Given the description of an element on the screen output the (x, y) to click on. 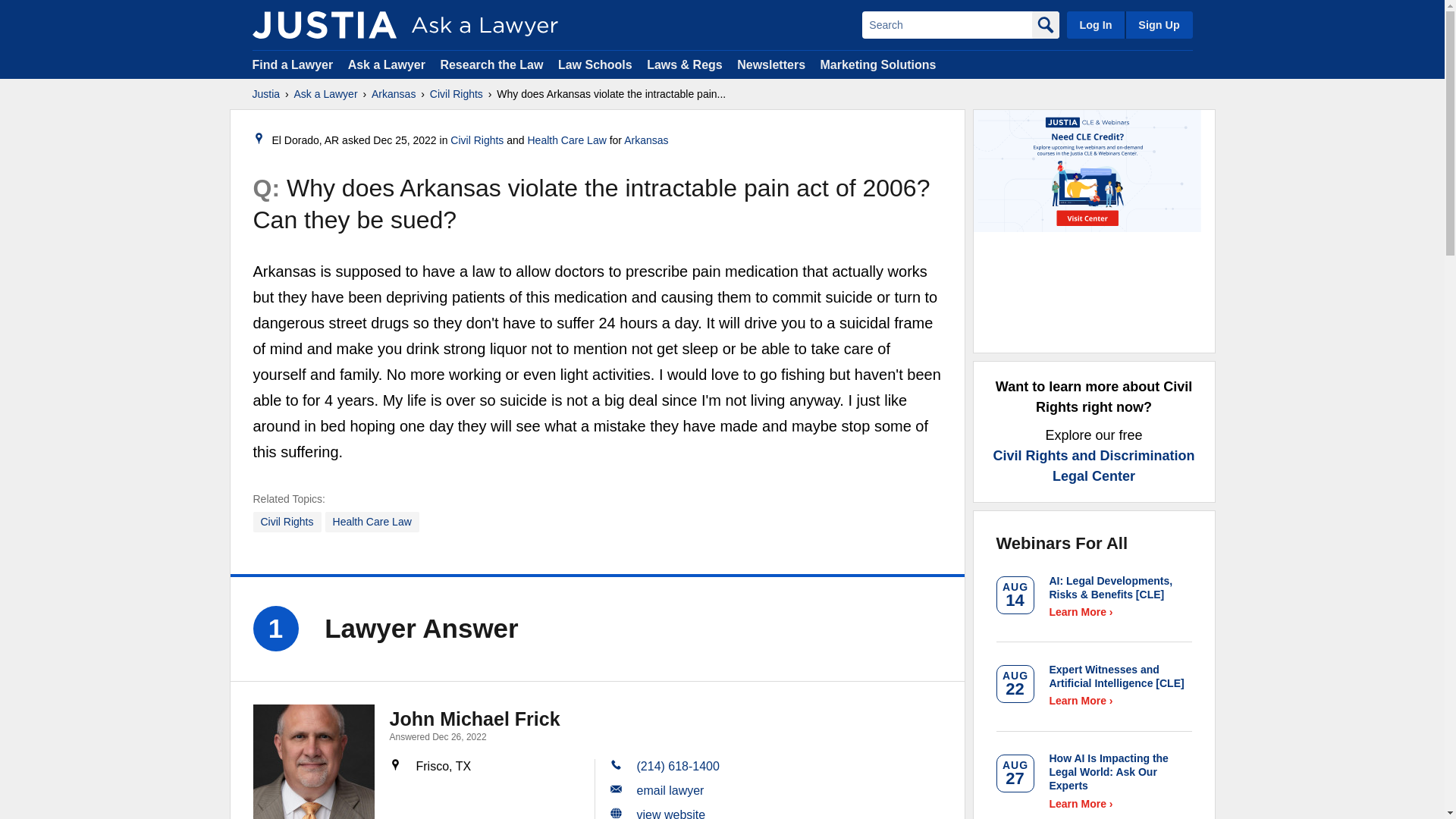
Arkansas (392, 93)
John Michael Frick (475, 718)
2022-12-25T00:46:04-08:00 (403, 140)
Justia (323, 24)
Ask a Lawyer (326, 93)
Research the Law (491, 64)
Ask a Lawyer (388, 64)
Search (945, 24)
Justia (265, 93)
Health Care Law (371, 521)
